Given the description of an element on the screen output the (x, y) to click on. 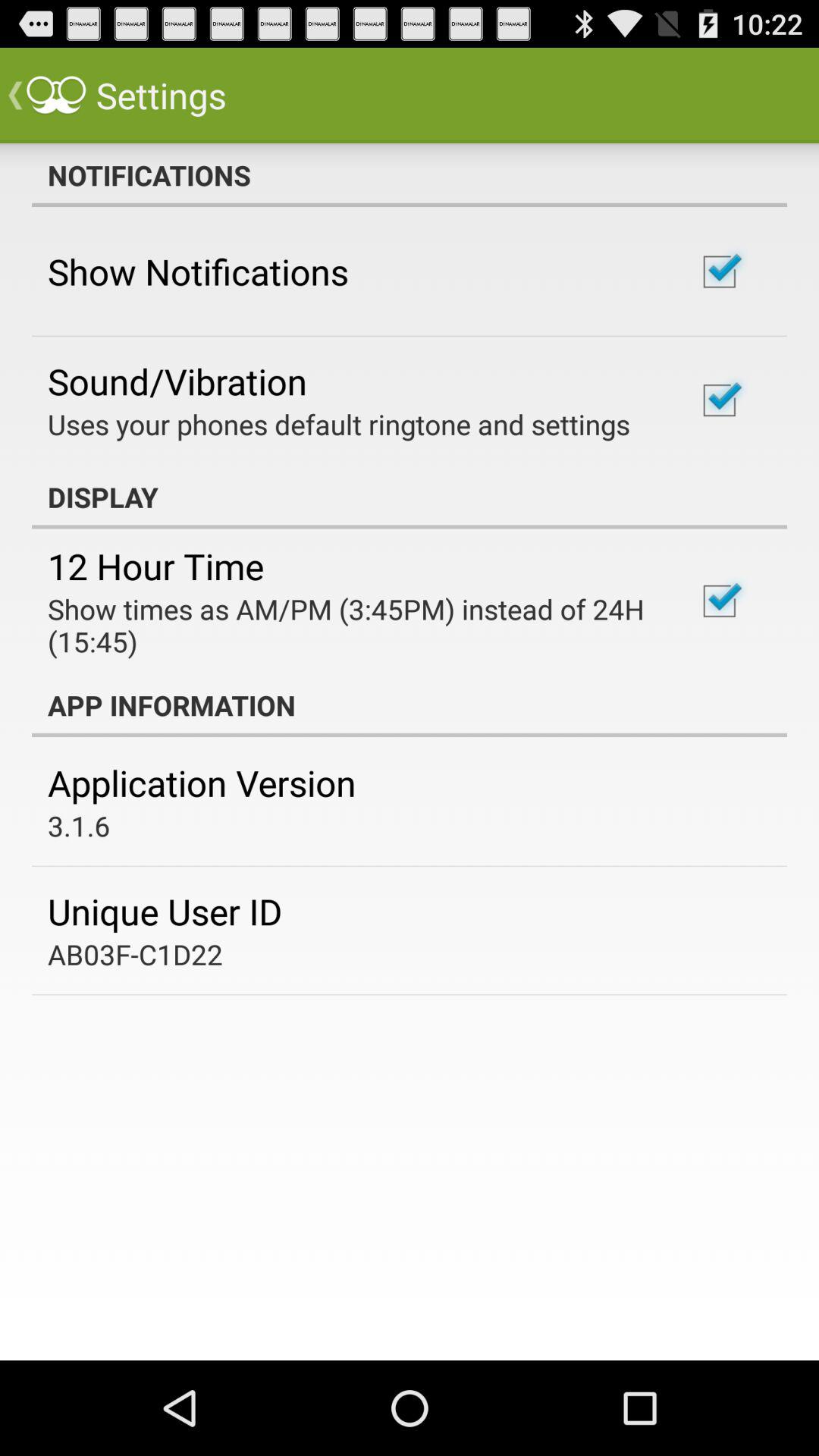
jump to app information (409, 705)
